Given the description of an element on the screen output the (x, y) to click on. 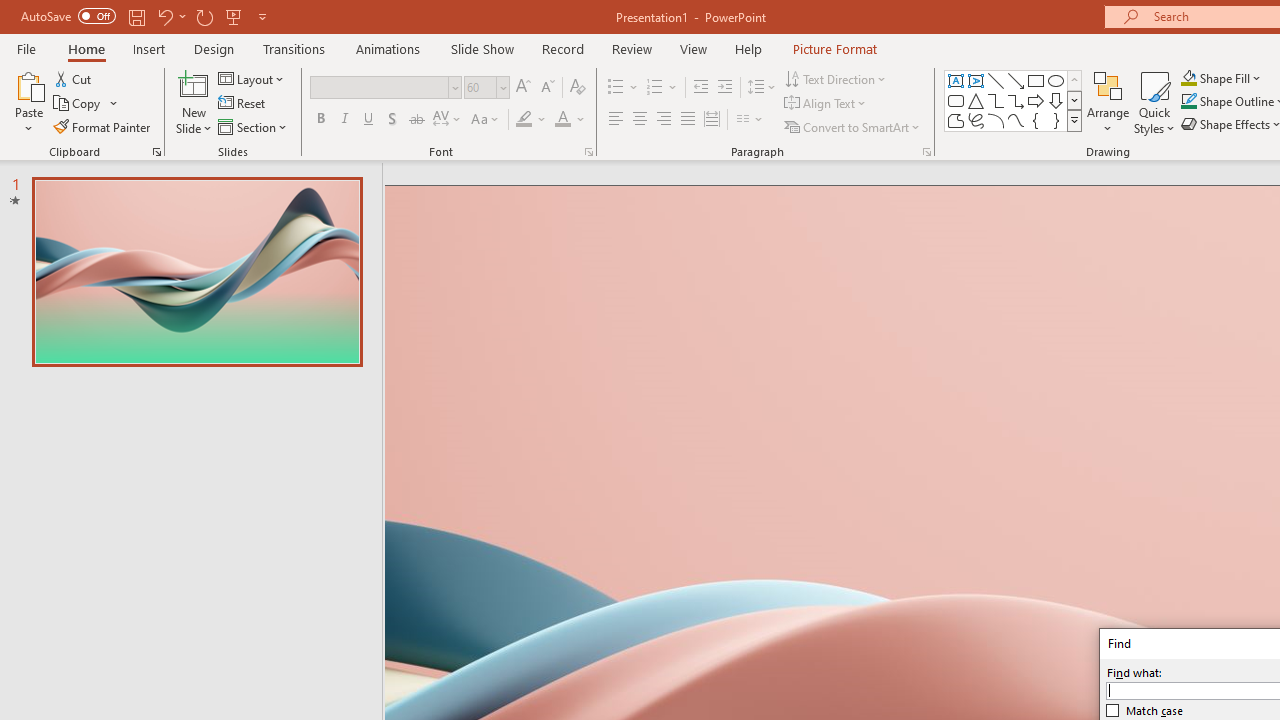
Text Highlight Color Yellow (524, 119)
Justify (687, 119)
Arrange (1108, 102)
Increase Indent (725, 87)
Strikethrough (416, 119)
